Given the description of an element on the screen output the (x, y) to click on. 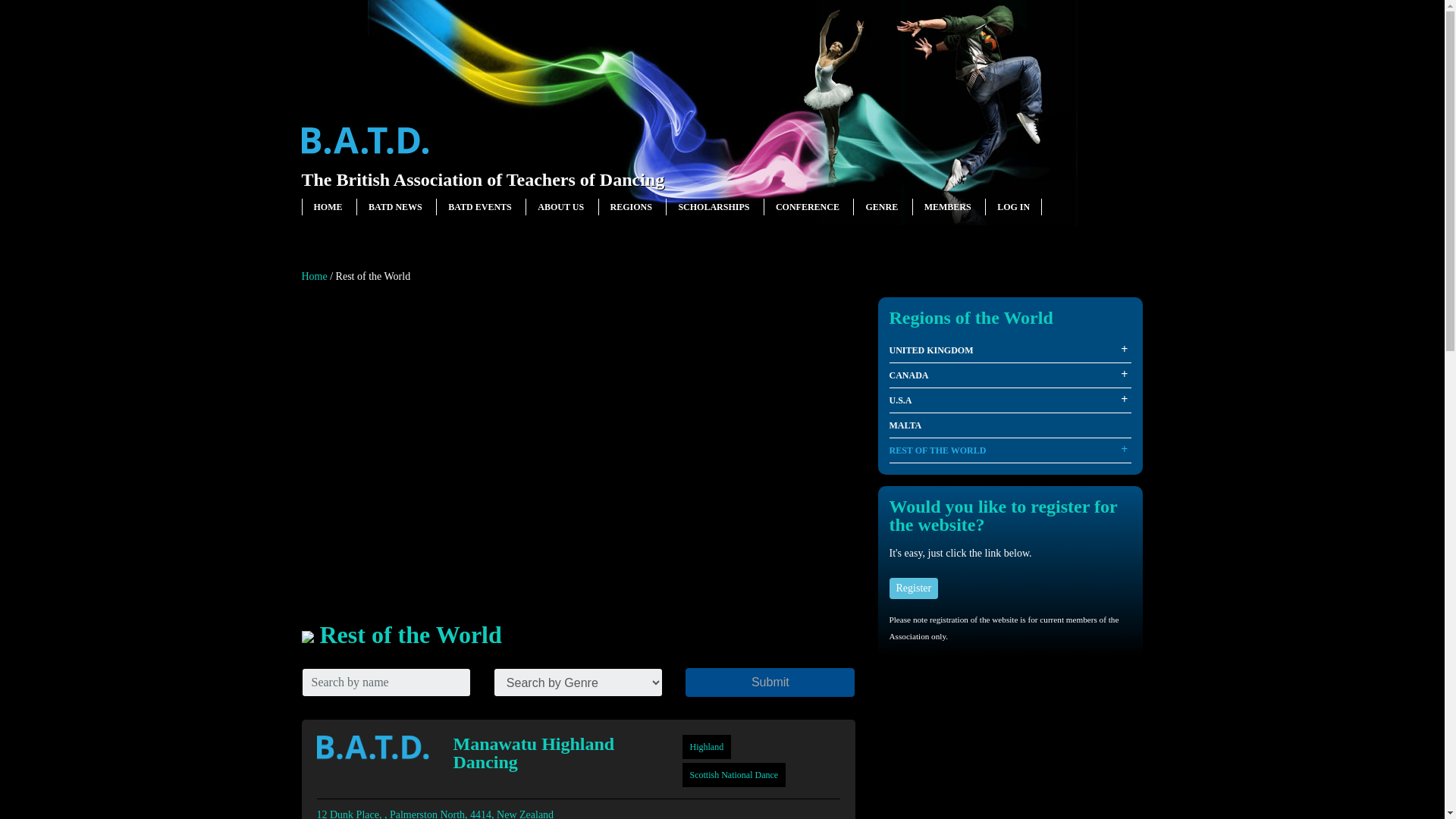
LOG IN (1013, 206)
Manawatu Highland Dancing (555, 752)
REGIONS (631, 206)
BATD NEWS (395, 206)
SCHOLARSHIPS (713, 206)
ABOUT US (560, 206)
BATD EVENTS (479, 206)
CONFERENCE (808, 206)
Submit (769, 682)
MEMBERS (947, 206)
Home (314, 276)
GENRE (881, 206)
HOME (328, 206)
Highland (706, 747)
Scottish National Dance (734, 774)
